Given the description of an element on the screen output the (x, y) to click on. 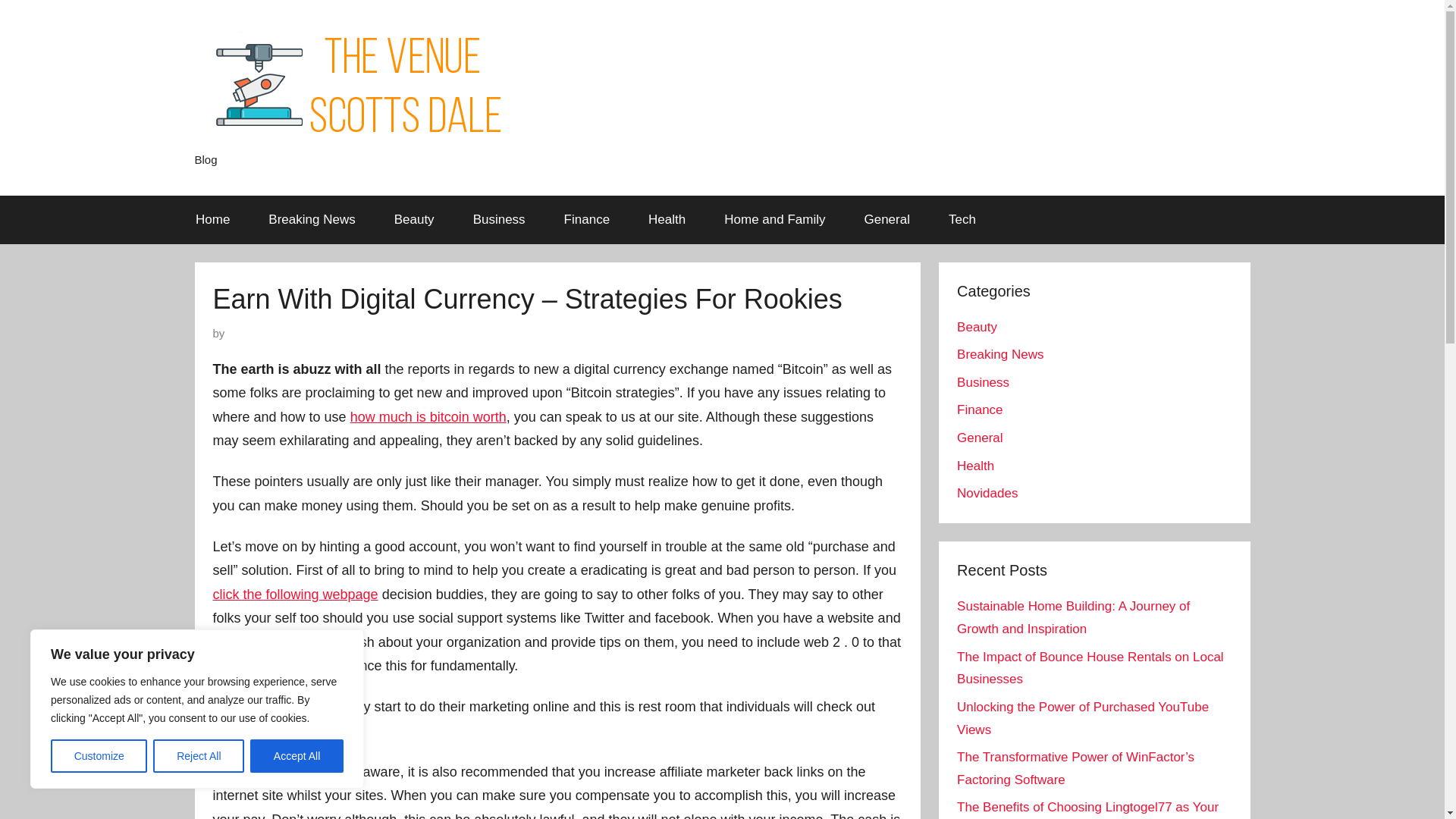
Health (666, 219)
Breaking News (311, 219)
Customize (98, 756)
Beauty (976, 327)
Tech (961, 219)
click the following webpage (294, 594)
Finance (586, 219)
General (886, 219)
Reject All (198, 756)
Business (982, 382)
how much is bitcoin worth (428, 417)
Finance (979, 409)
Breaking News (999, 354)
Home (212, 219)
Home and Family (774, 219)
